Given the description of an element on the screen output the (x, y) to click on. 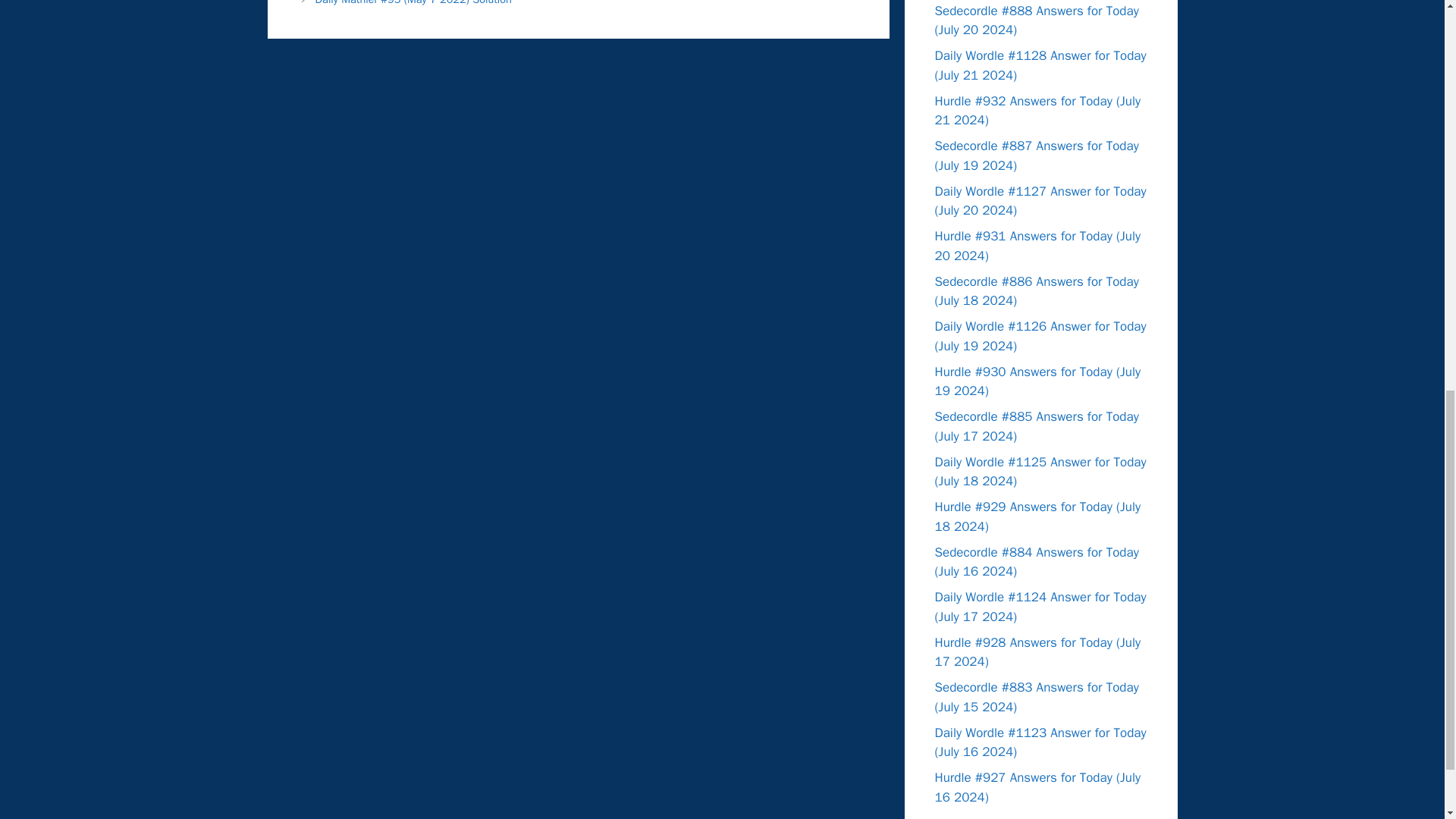
Next (413, 2)
